Given the description of an element on the screen output the (x, y) to click on. 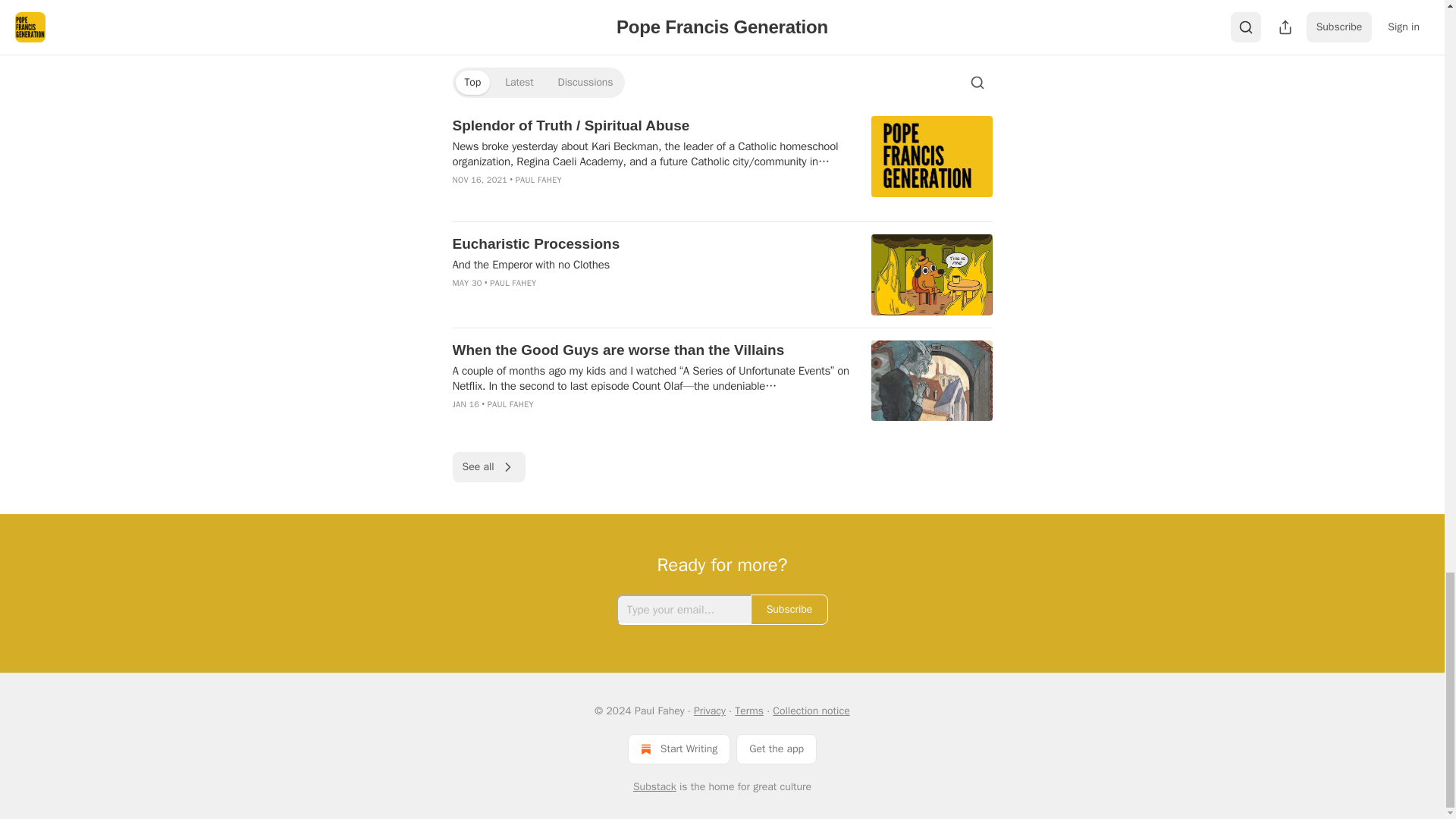
Discussions (585, 82)
Top (471, 82)
Latest (518, 82)
